Given the description of an element on the screen output the (x, y) to click on. 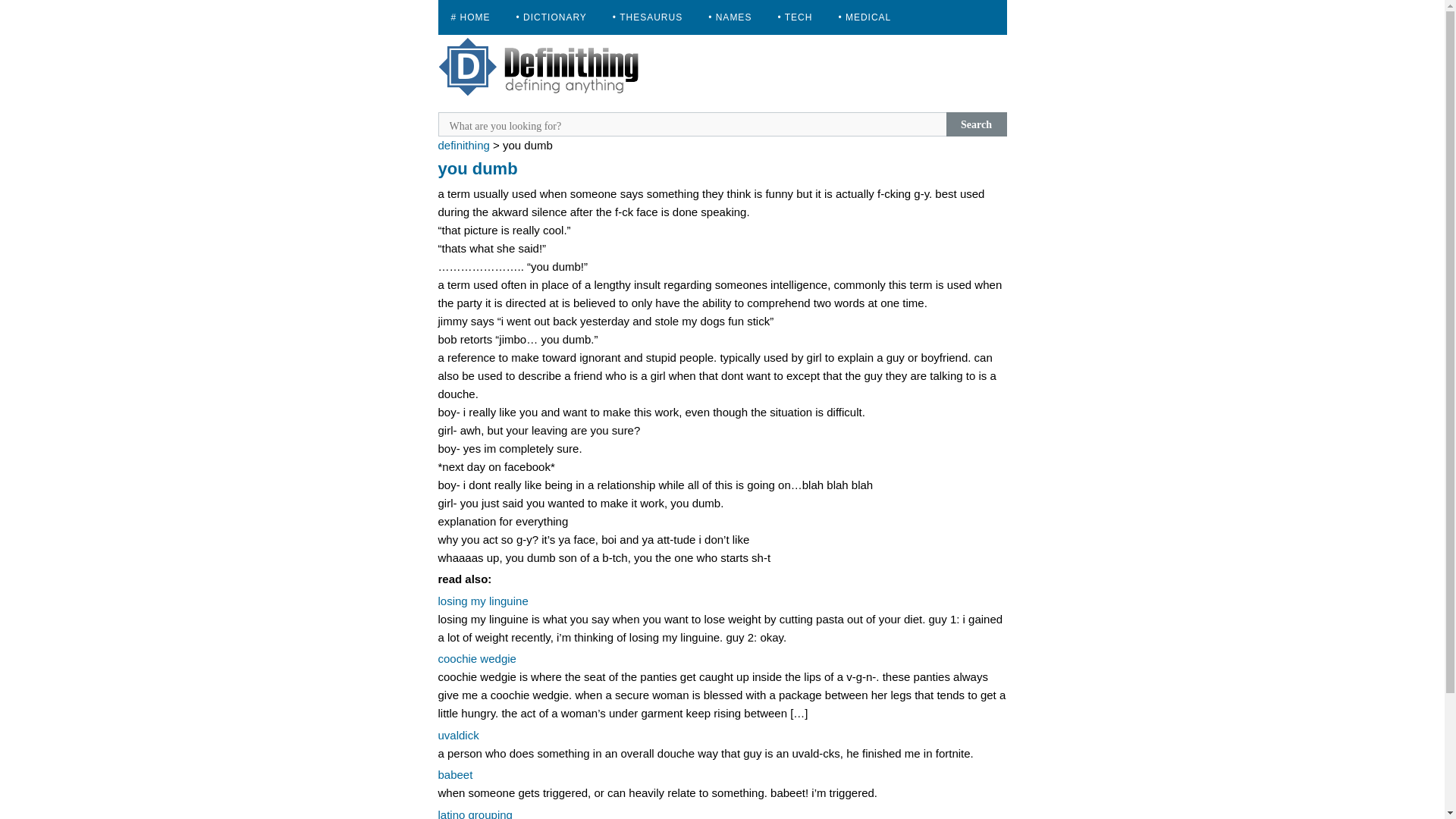
definithing (463, 144)
uvaldick (458, 735)
babeet (455, 774)
losing my linguine (483, 600)
you dumb (478, 168)
latino grouping (475, 813)
Search (976, 124)
coochie wedgie (477, 658)
